Given the description of an element on the screen output the (x, y) to click on. 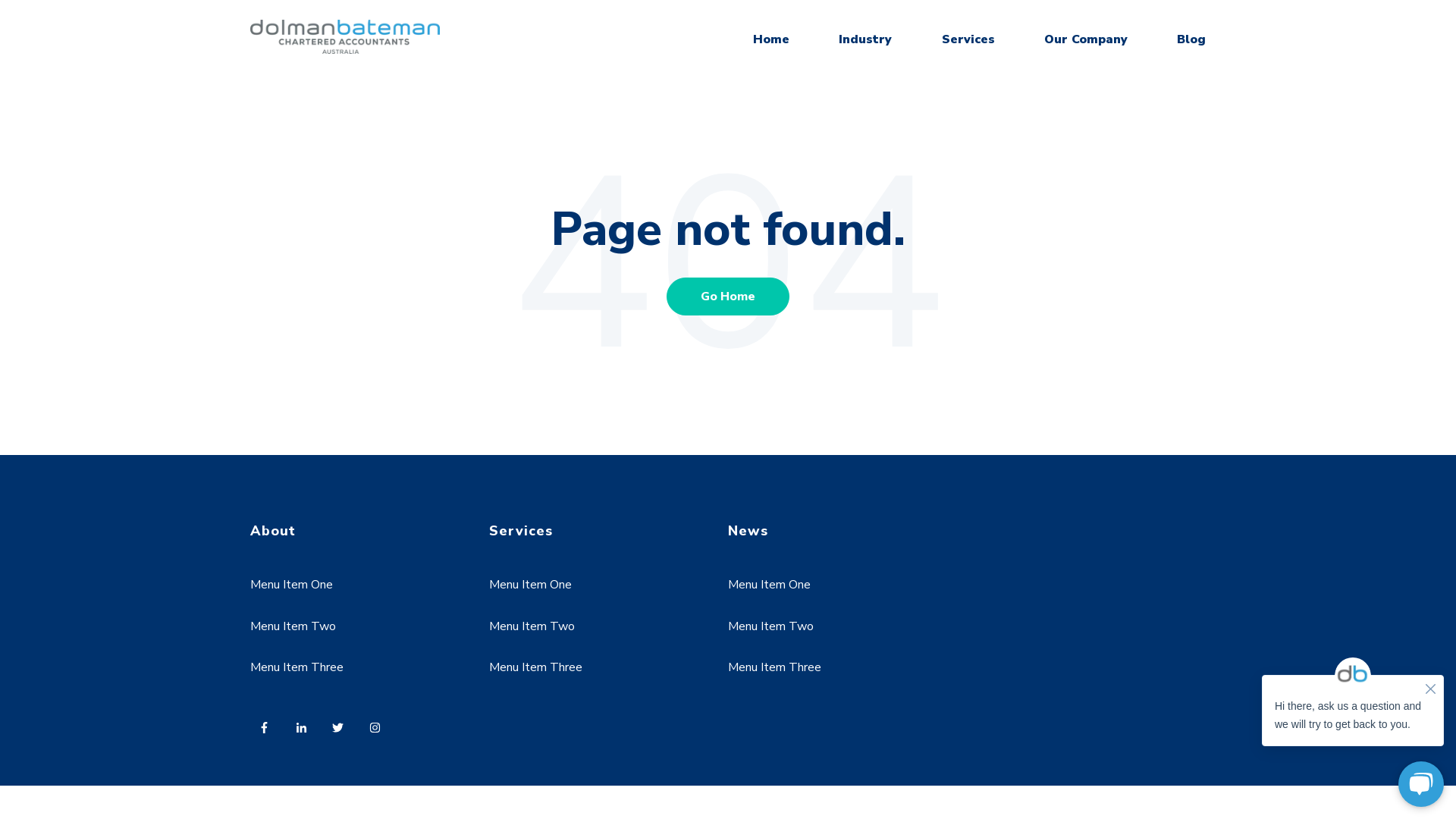
Follow us on Instagram Element type: text (379, 731)
DOLMAN BATEMAN Element type: hover (344, 36)
Follow us on LinkedIn Element type: text (305, 731)
Follow us on Facebook Element type: text (268, 731)
Menu Item Three Element type: text (535, 666)
Menu Item Two Element type: text (770, 626)
Our Company Element type: text (1085, 39)
Menu Item One Element type: text (530, 584)
Home Element type: text (771, 39)
Go Home Element type: text (727, 296)
Menu Item One Element type: text (769, 584)
Services Element type: text (967, 39)
Industry Element type: text (864, 39)
Menu Item Two Element type: text (292, 626)
Follow us on Twitter Element type: text (341, 731)
Menu Item Two Element type: text (531, 626)
Menu Item Three Element type: text (774, 666)
Menu Item One Element type: text (291, 584)
Menu Item Three Element type: text (296, 666)
Blog Element type: text (1190, 39)
